Given the description of an element on the screen output the (x, y) to click on. 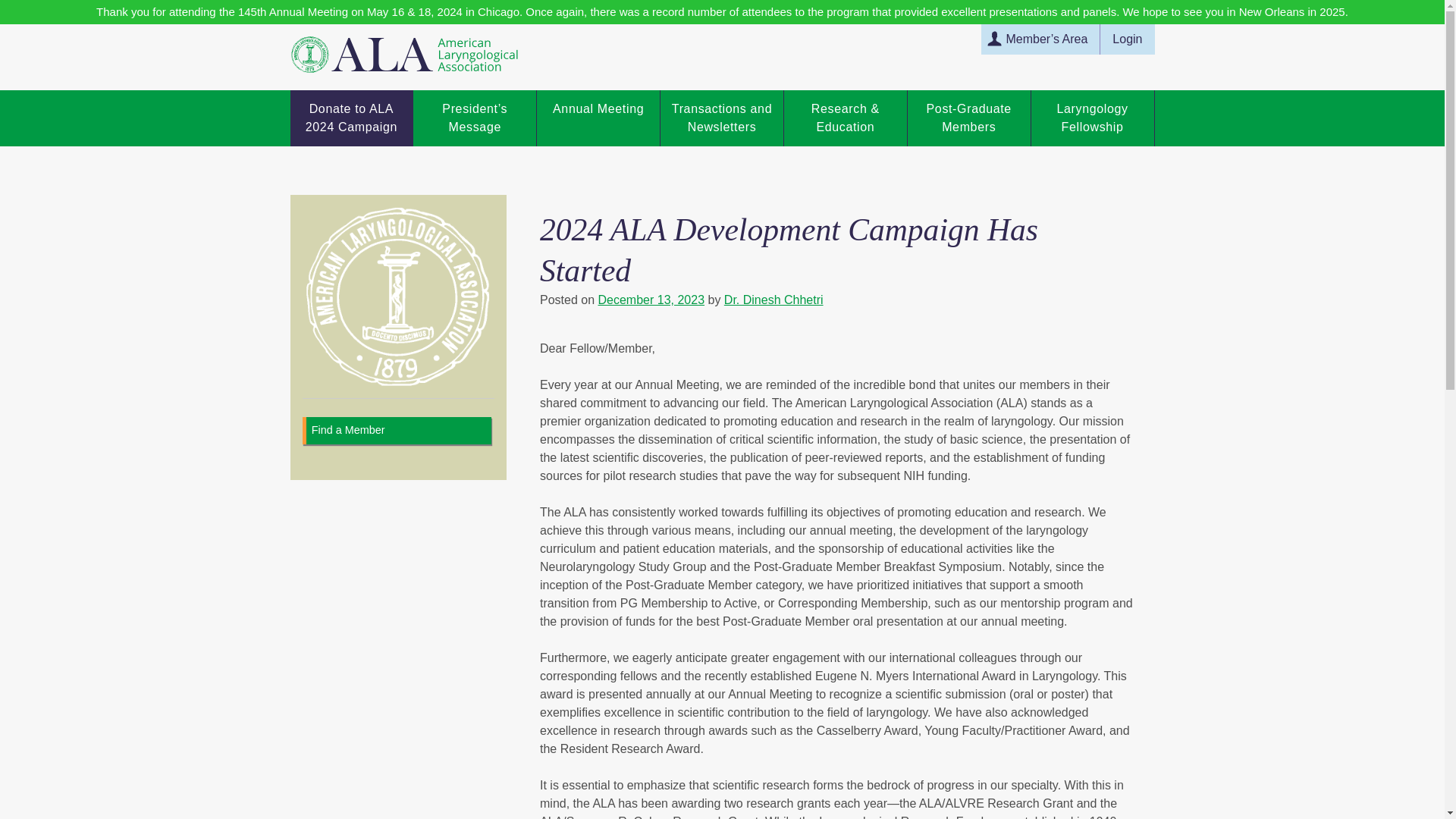
Login (1127, 39)
Post-Graduate Members (968, 118)
Transactions and Newsletters (722, 118)
Dr. Dinesh Chhetri (773, 299)
Laryngology Fellowship (1092, 118)
Find a Member (395, 430)
Donate to ALA 2024 Campaign (350, 118)
Annual Meeting (598, 118)
December 13, 2023 (650, 299)
